Given the description of an element on the screen output the (x, y) to click on. 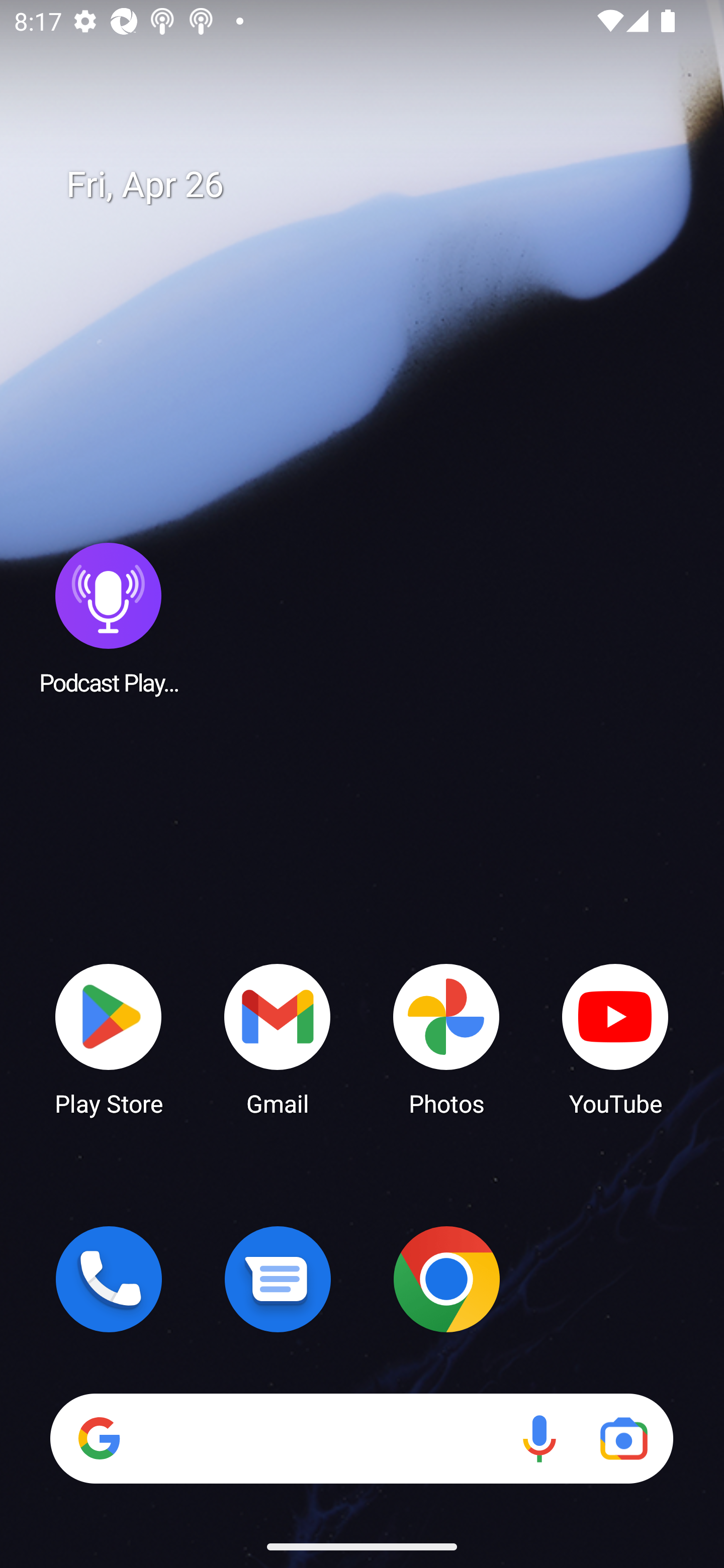
Fri, Apr 26 (375, 184)
Podcast Player (108, 617)
Play Store (108, 1038)
Gmail (277, 1038)
Photos (445, 1038)
YouTube (615, 1038)
Phone (108, 1279)
Messages (277, 1279)
Chrome (446, 1279)
Search Voice search Google Lens (361, 1438)
Voice search (539, 1438)
Google Lens (623, 1438)
